Given the description of an element on the screen output the (x, y) to click on. 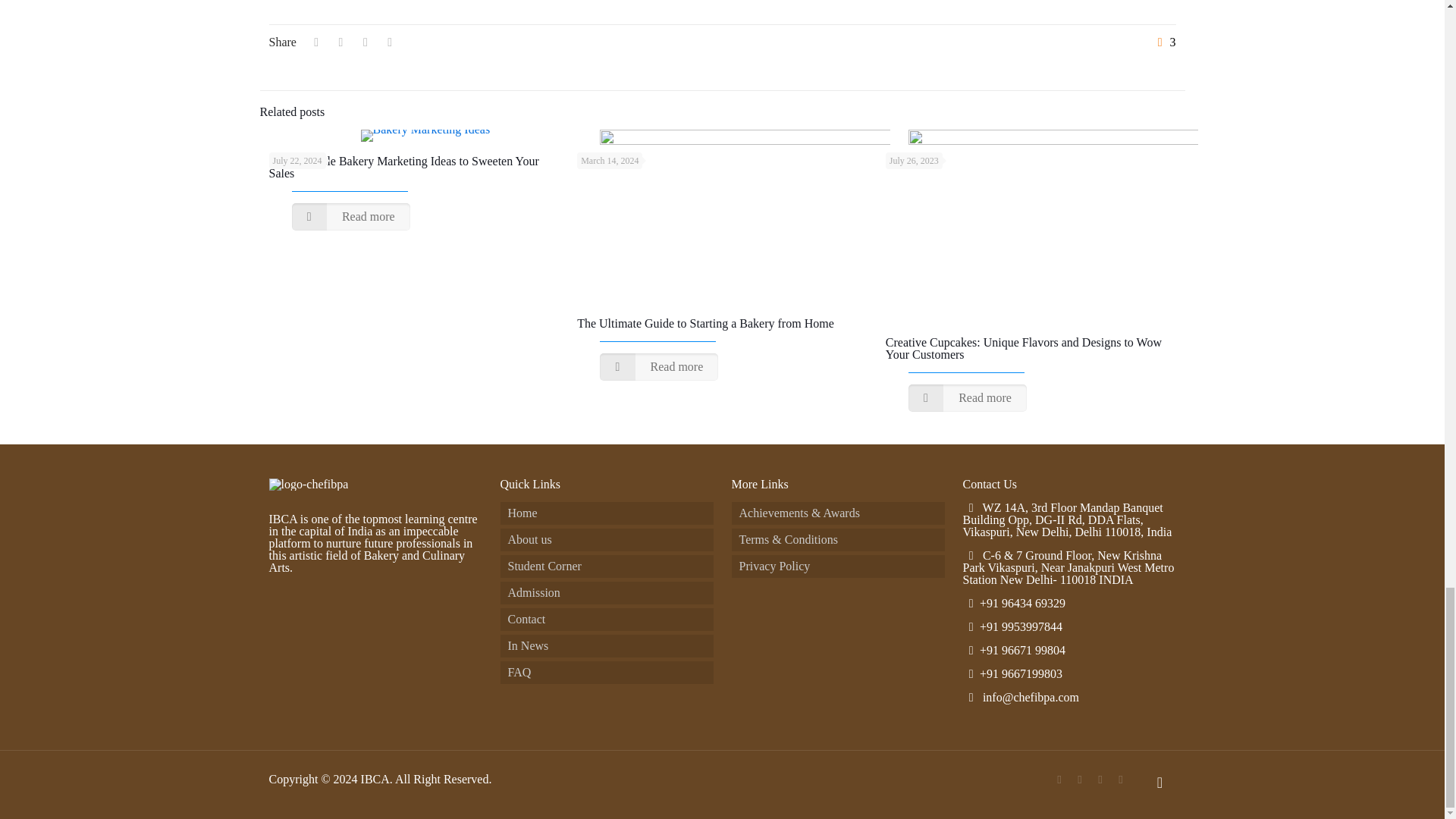
WhatsApp (1059, 779)
Facebook (1079, 779)
YouTube (1100, 779)
Instagram (1121, 779)
